Given the description of an element on the screen output the (x, y) to click on. 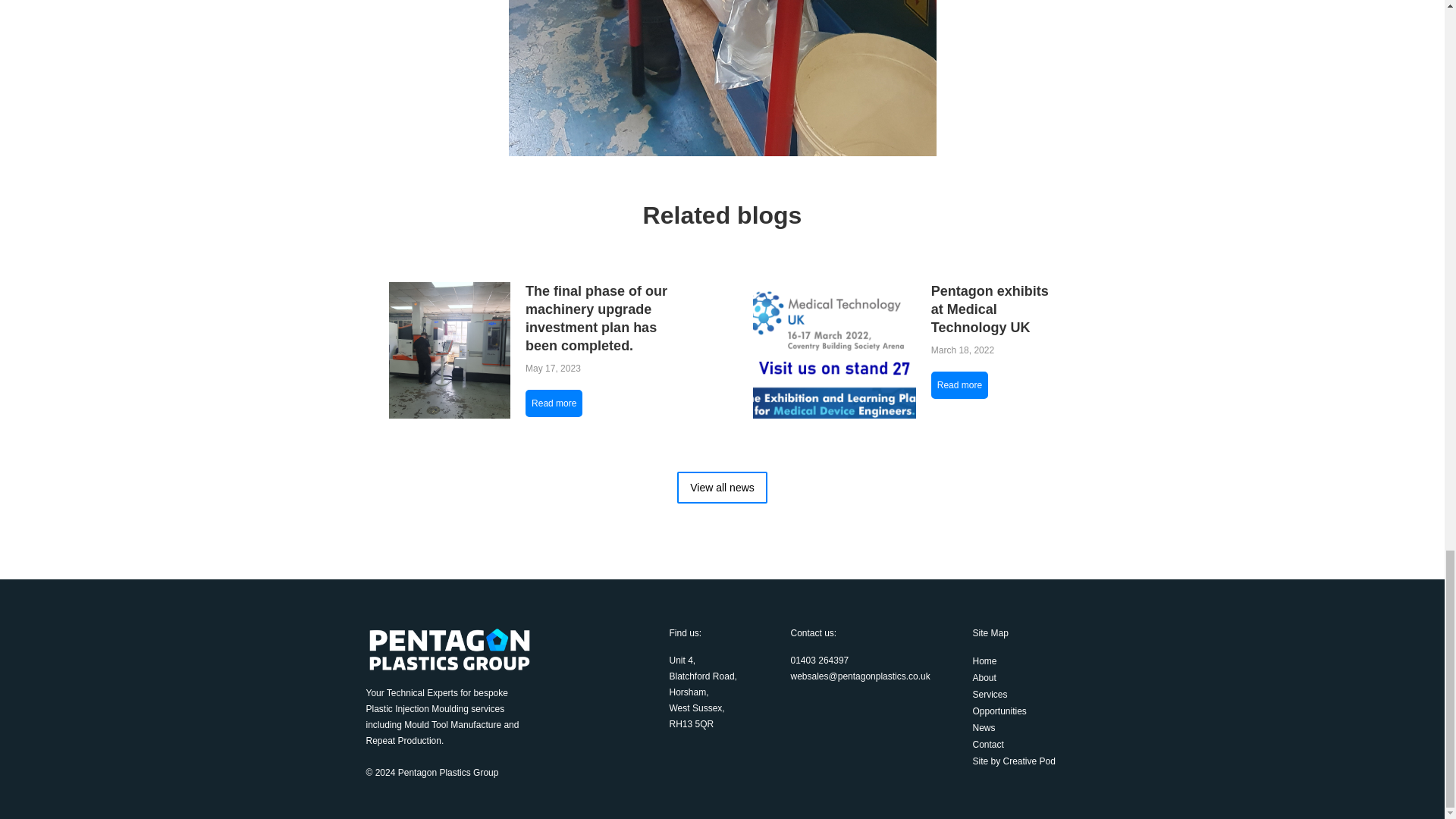
01403 264397 (819, 660)
View all news (722, 487)
Contact (1025, 744)
Read more (553, 402)
Opportunities (1025, 710)
Site by Creative Pod (1025, 760)
Home (1025, 660)
Services (1025, 694)
News (1025, 727)
About (1025, 677)
Read more (959, 384)
